Given the description of an element on the screen output the (x, y) to click on. 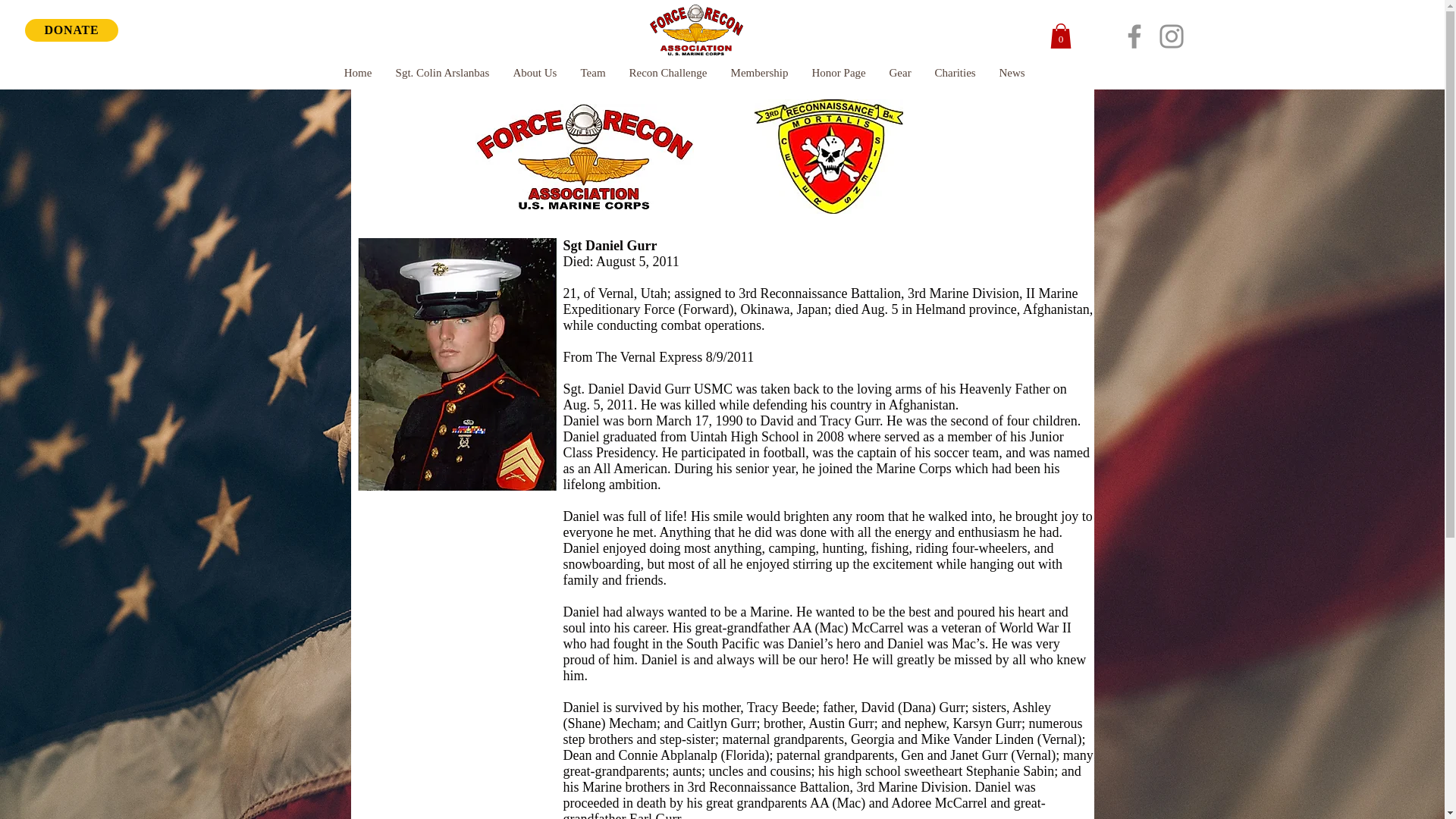
Gear (898, 72)
DONATE (70, 29)
Charities (954, 72)
Membership (759, 72)
Home (357, 72)
Team (593, 72)
About Us (533, 72)
Sgt. Colin Arslanbas (442, 72)
Recon Challenge (668, 72)
News (1011, 72)
Honor Page (837, 72)
